Given the description of an element on the screen output the (x, y) to click on. 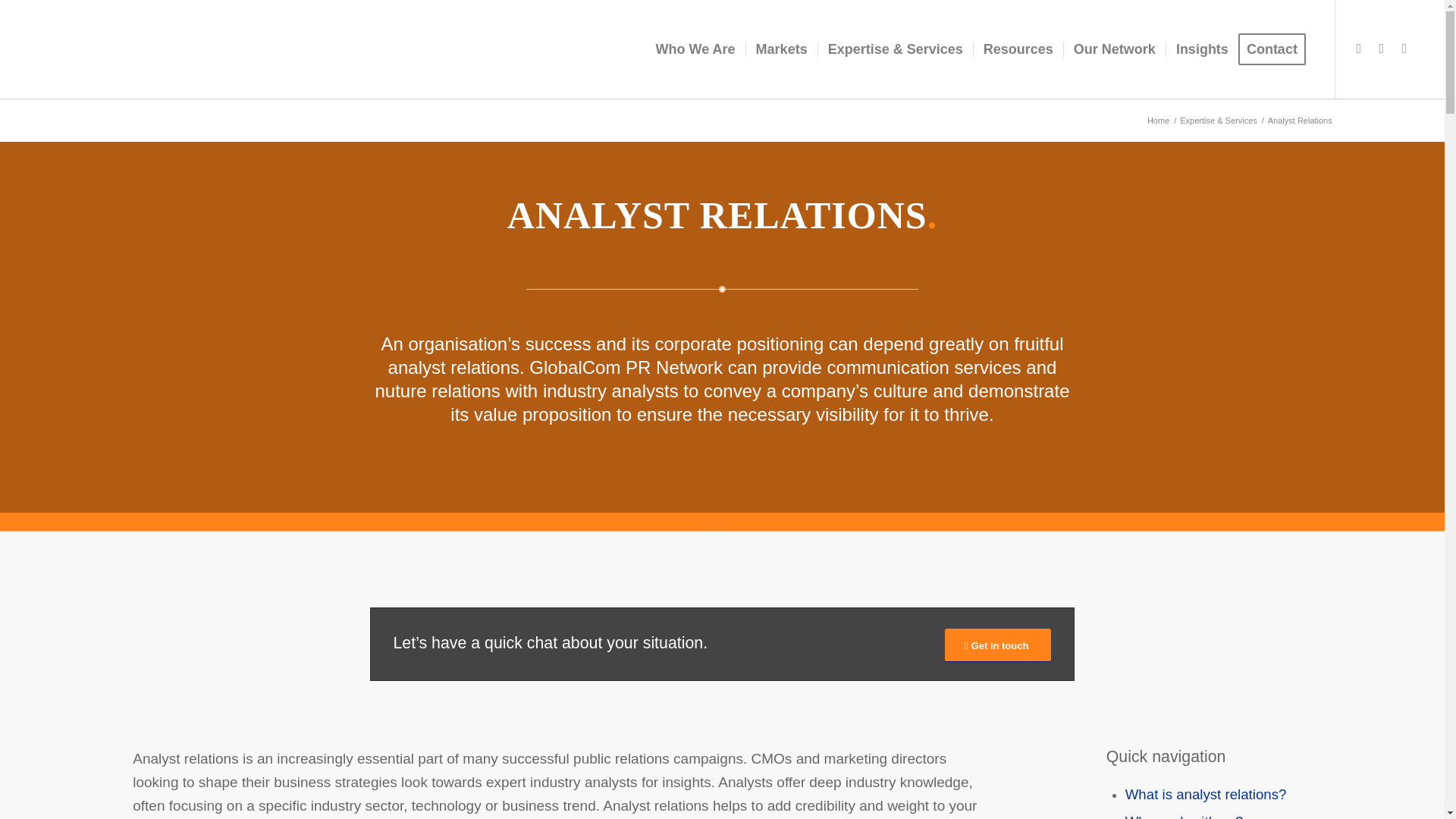
Facebook (1404, 47)
About us (695, 49)
Who We Are (695, 49)
PR Services (894, 49)
Mail (1381, 47)
Resources (1017, 49)
Our Network (1114, 49)
LinkedIn (1359, 47)
